Given the description of an element on the screen output the (x, y) to click on. 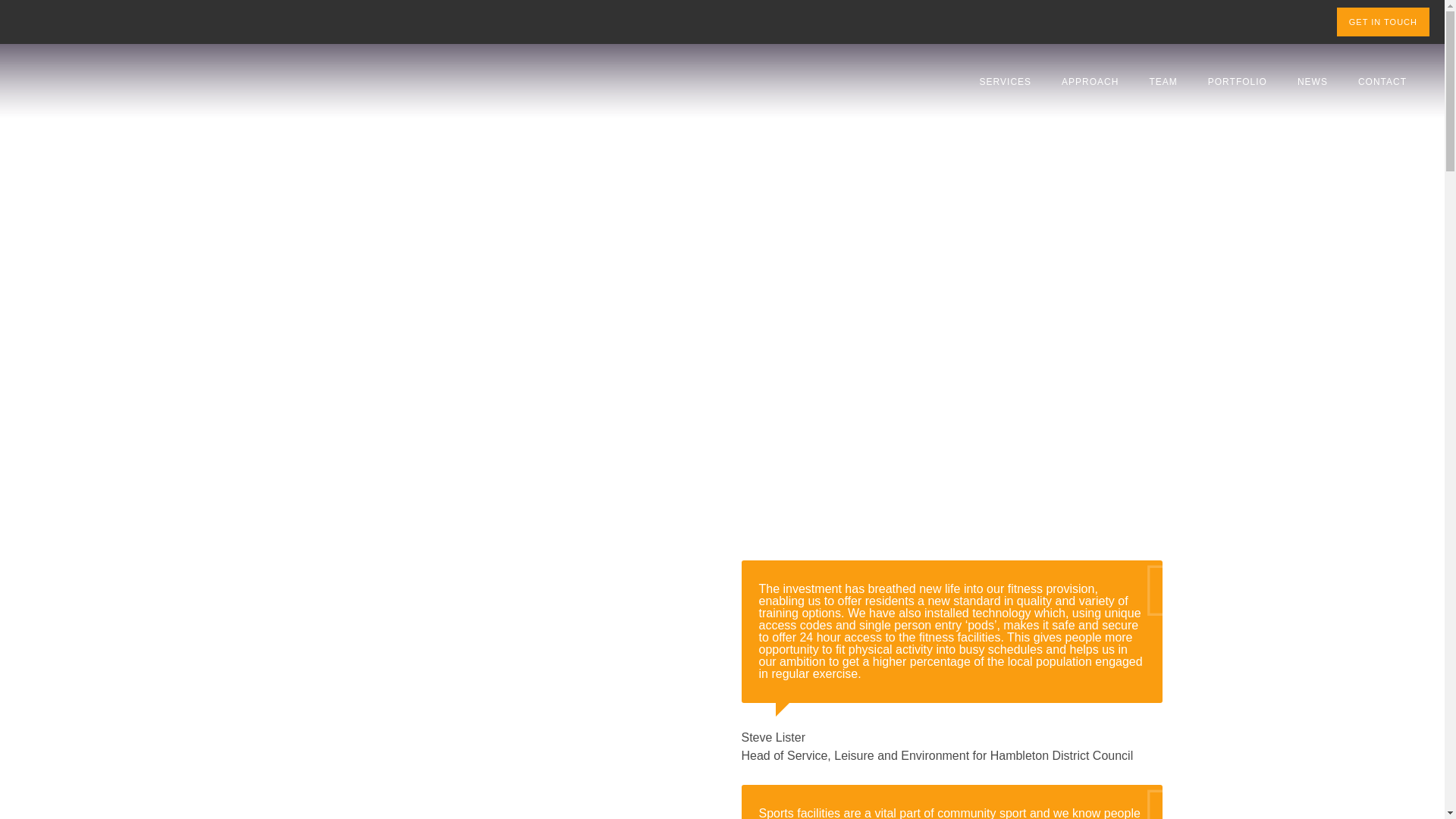
SERVICES (1004, 81)
Services (1004, 81)
Portfolio (1237, 81)
News (1312, 81)
GET IN TOUCH (1382, 21)
PORTFOLIO (1237, 81)
Approach (1090, 81)
Team (1163, 81)
NEWS (1312, 81)
CONTACT (1382, 81)
APPROACH (1090, 81)
TEAM (1163, 81)
